Given the description of an element on the screen output the (x, y) to click on. 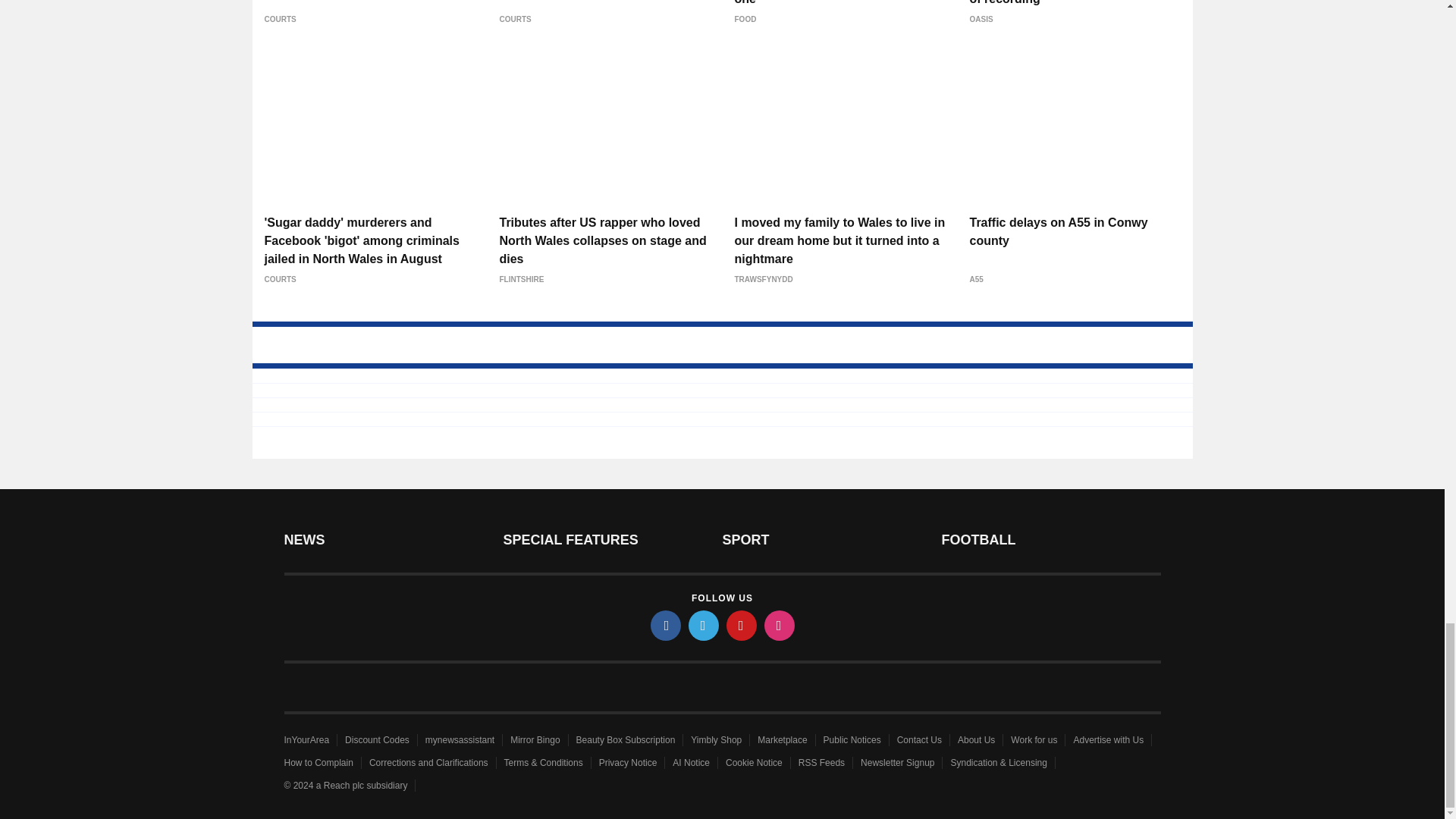
twitter (703, 625)
pinterest (741, 625)
instagram (779, 625)
facebook (665, 625)
